Given the description of an element on the screen output the (x, y) to click on. 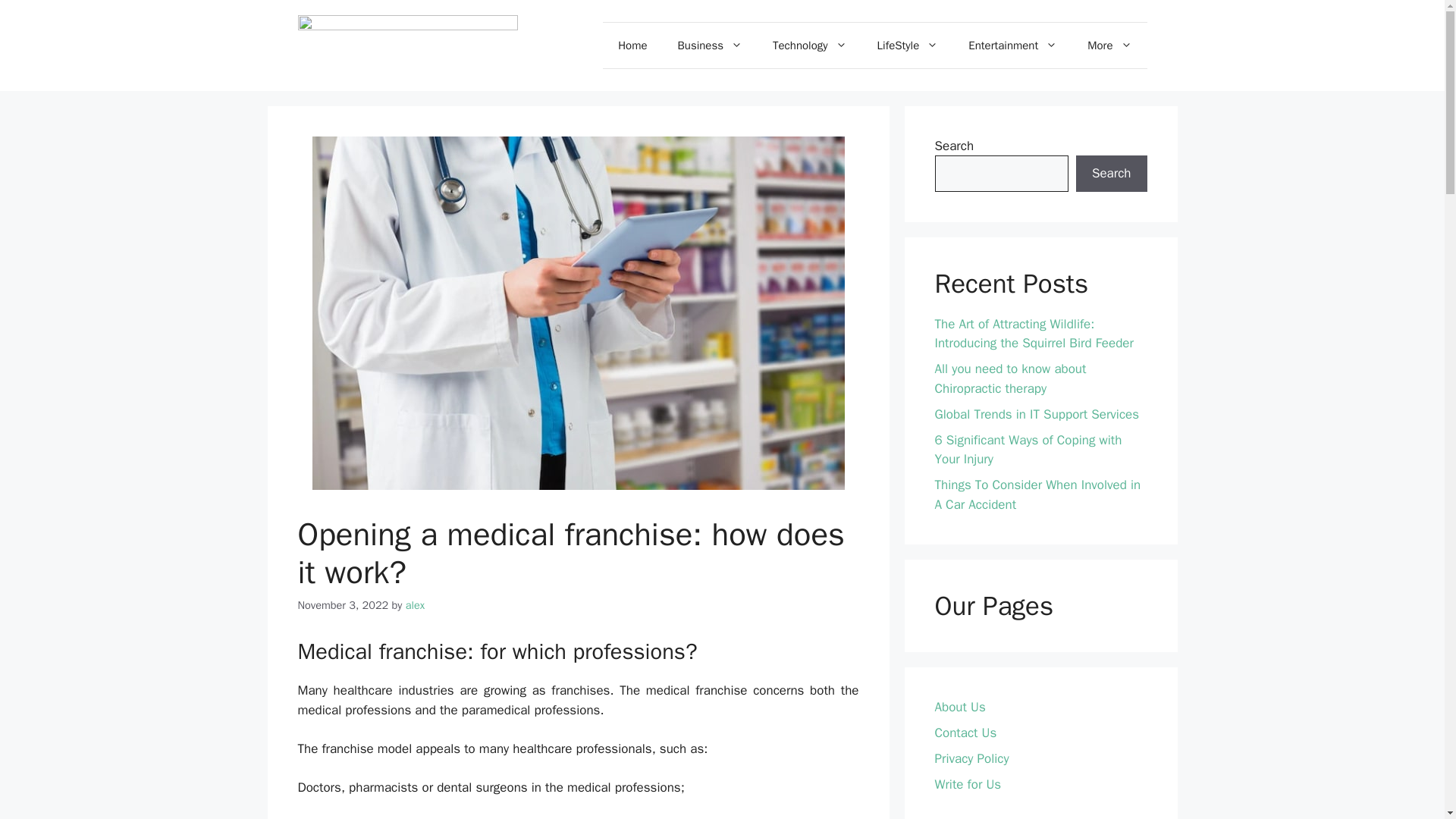
All you need to know about Chiropractic therapy (1010, 378)
Global Trends in IT Support Services (1036, 414)
alex (415, 604)
View all posts by alex (415, 604)
Technology (809, 44)
Business (710, 44)
LifeStyle (907, 44)
More (1109, 44)
6 Significant Ways of Coping with Your Injury (1027, 449)
Entertainment (1012, 44)
Search (1111, 173)
Home (632, 44)
